Given the description of an element on the screen output the (x, y) to click on. 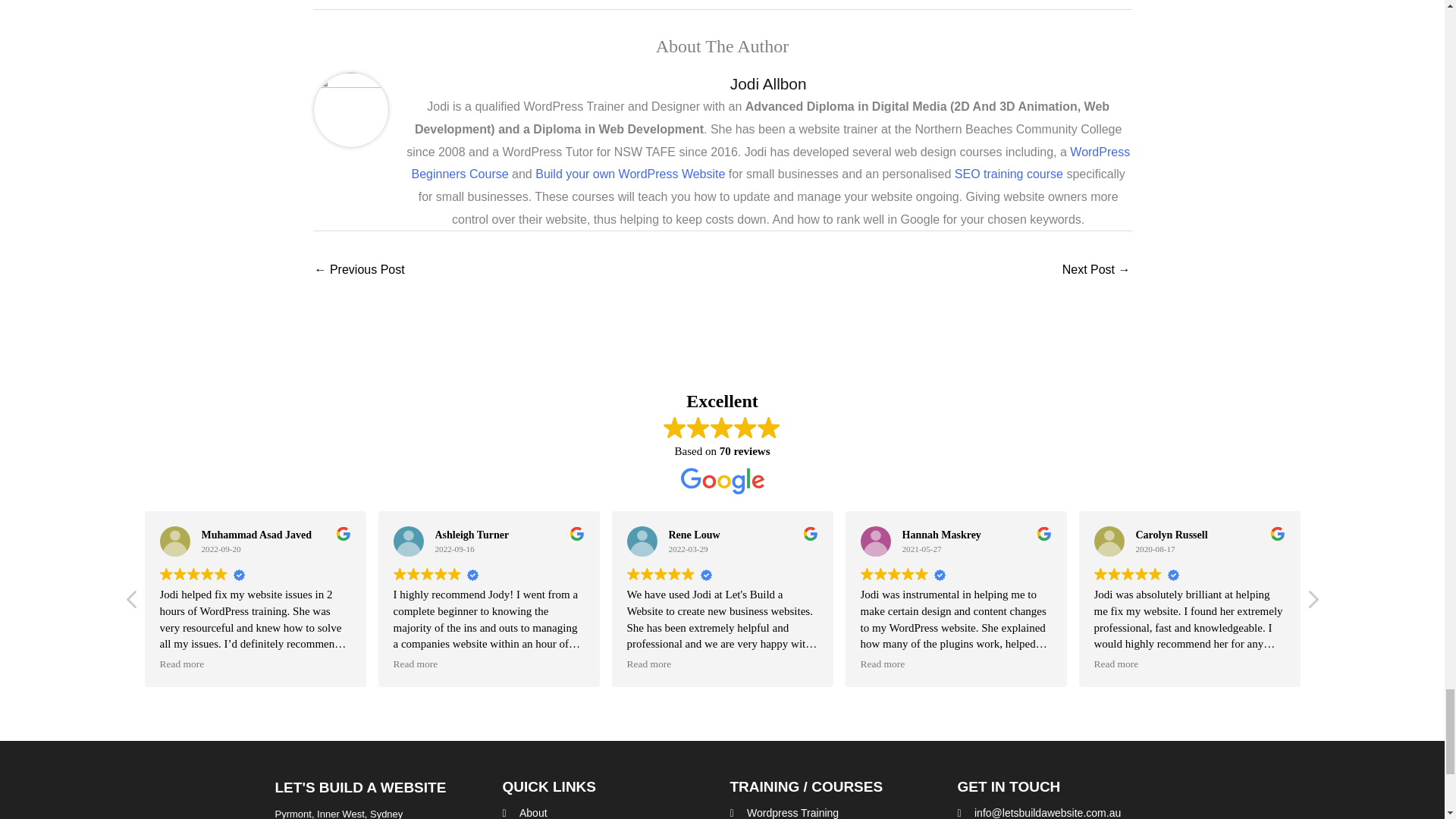
WordPress Short Course (771, 162)
